Given the description of an element on the screen output the (x, y) to click on. 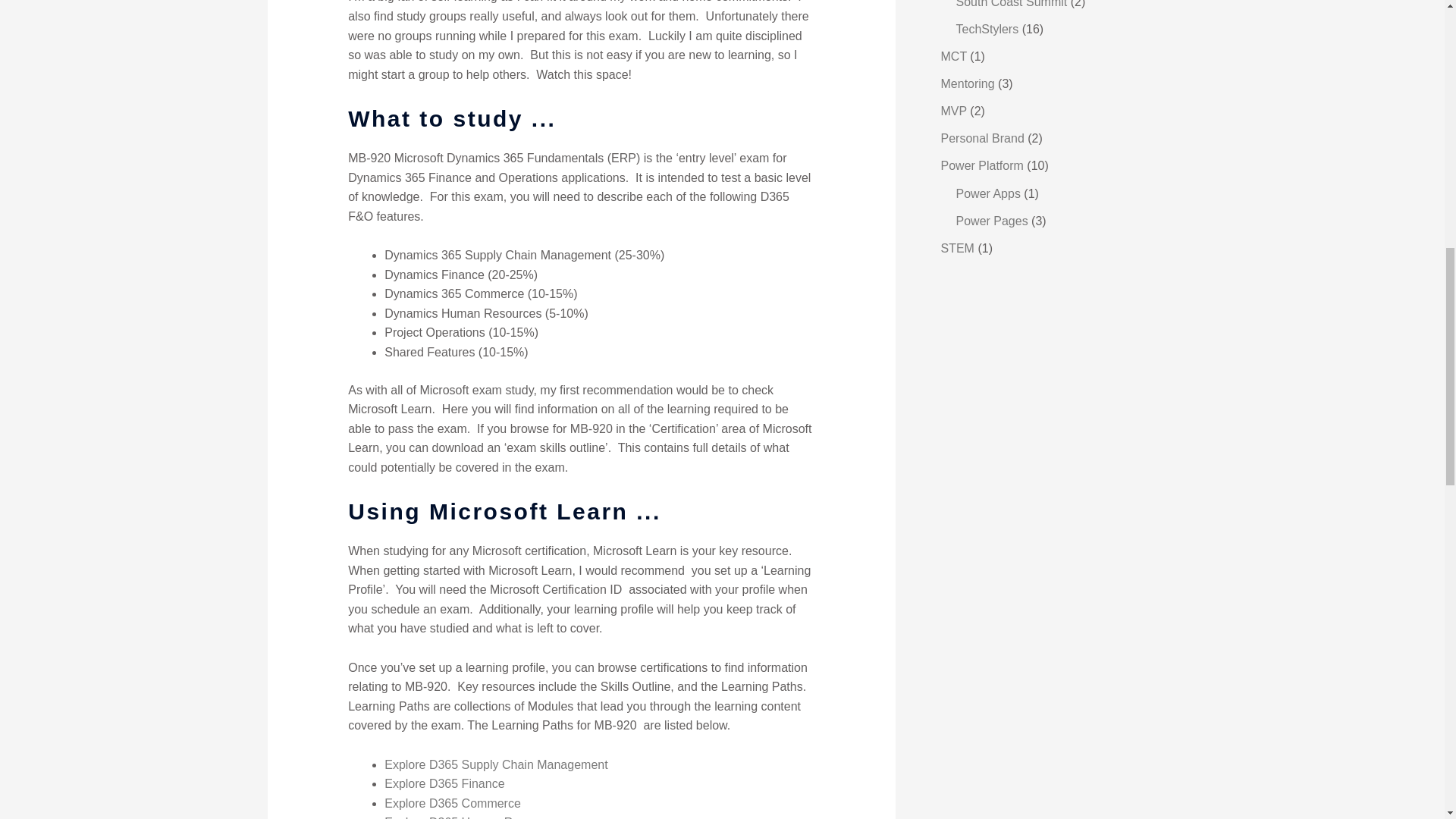
Explore D365 Human Resources (473, 817)
Explore D365 Commerce (452, 802)
Explore D365 Finance (443, 783)
Explore D365 Supply Chain Management (495, 764)
